Given the description of an element on the screen output the (x, y) to click on. 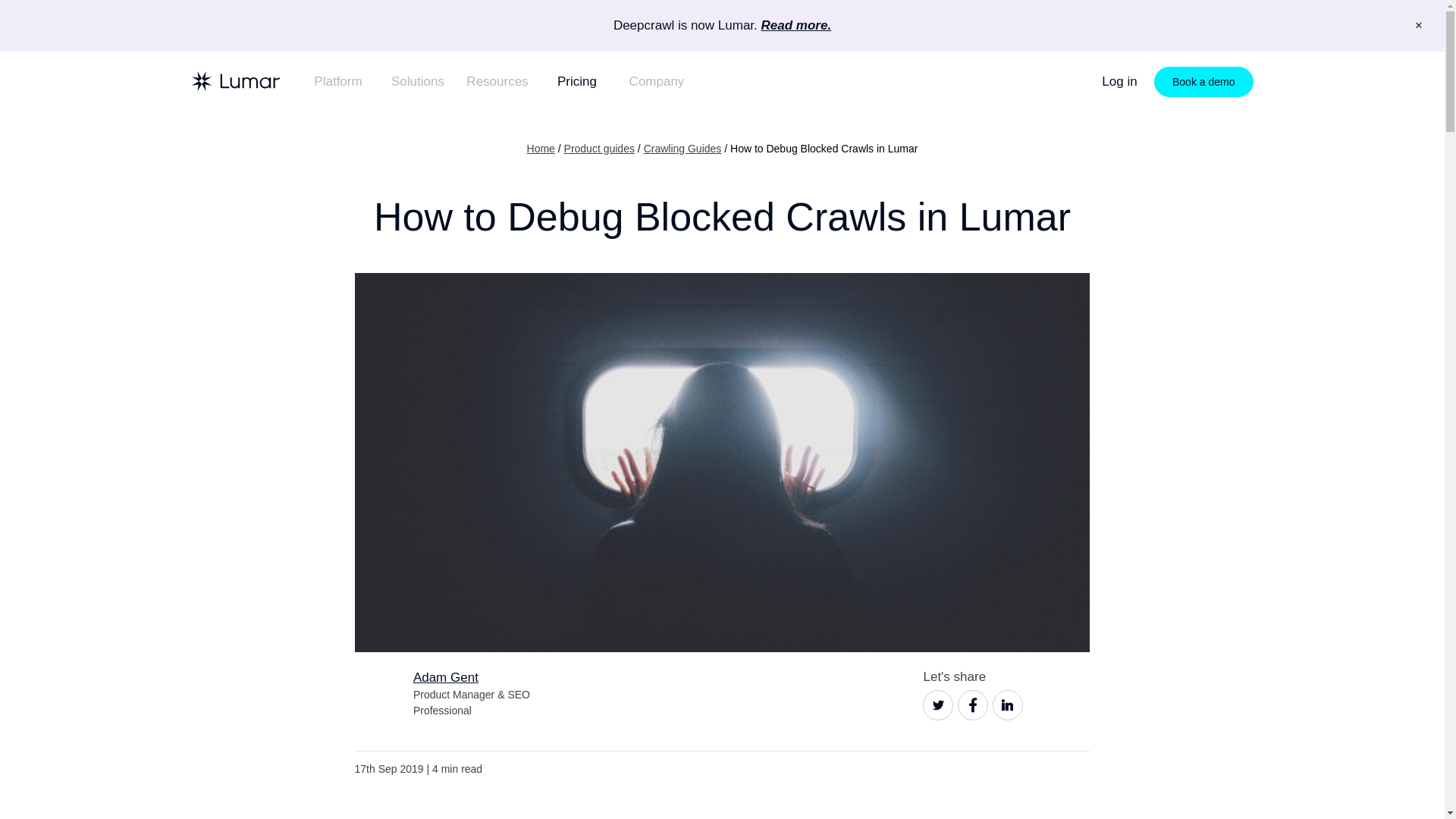
Share this post on LinkedIn (1007, 705)
Posts by Adam Gent (446, 677)
Resources (497, 81)
Lumar (234, 81)
Share this post on Twitter (938, 705)
Lumar (234, 81)
Share this post on Facebook (973, 705)
Platform (338, 81)
Solutions (417, 81)
Read more. (796, 25)
